Given the description of an element on the screen output the (x, y) to click on. 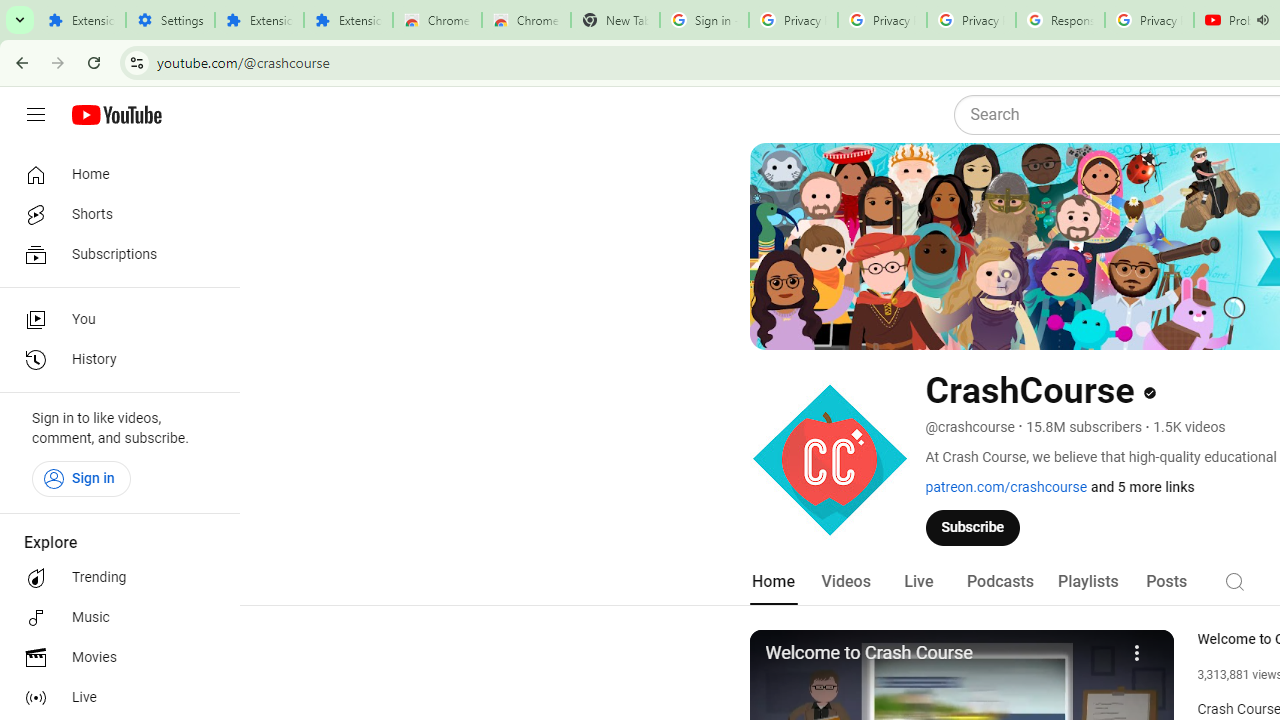
Extensions (259, 20)
